Given the description of an element on the screen output the (x, y) to click on. 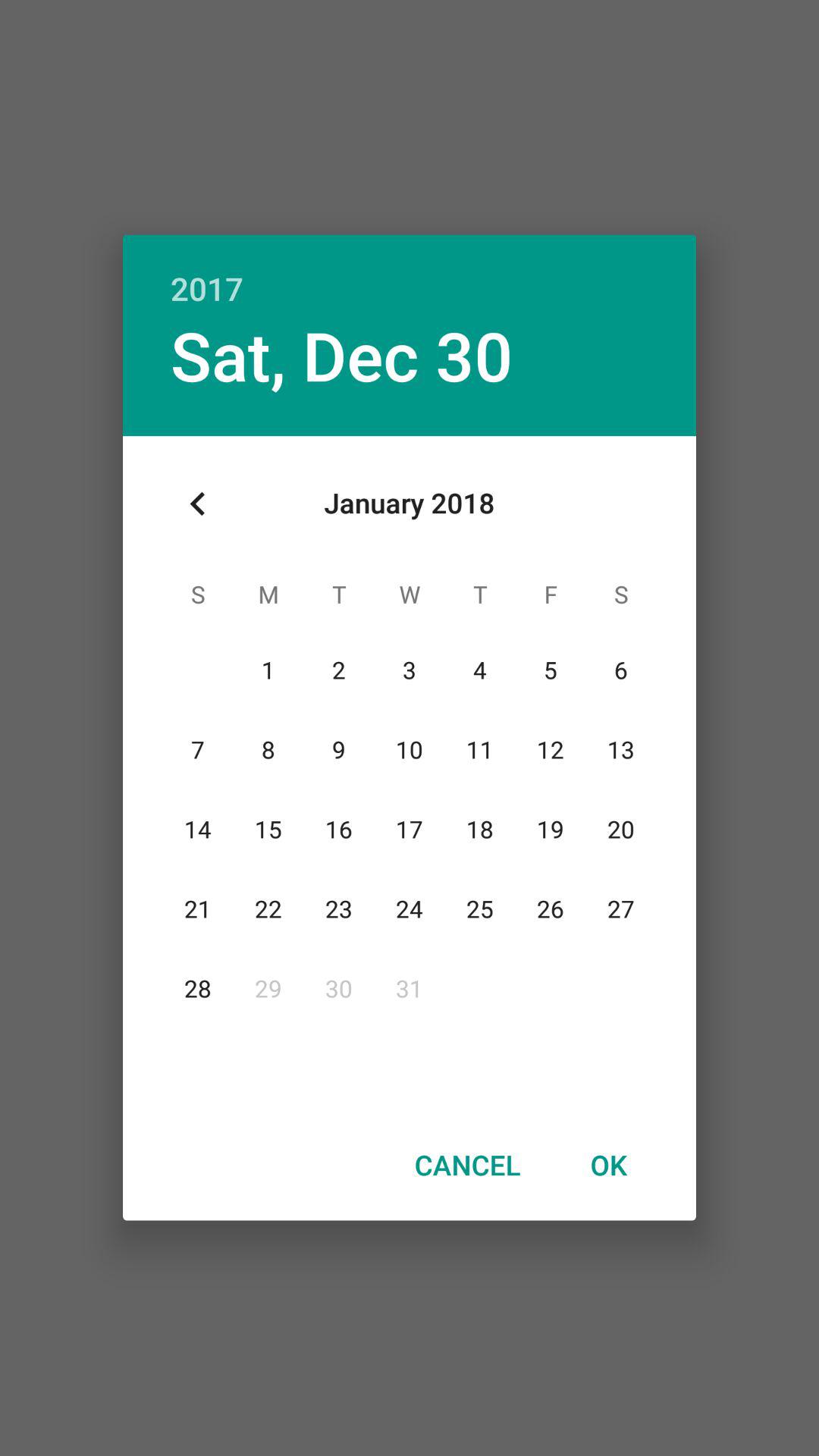
select item below sat, dec 30 item (197, 503)
